Given the description of an element on the screen output the (x, y) to click on. 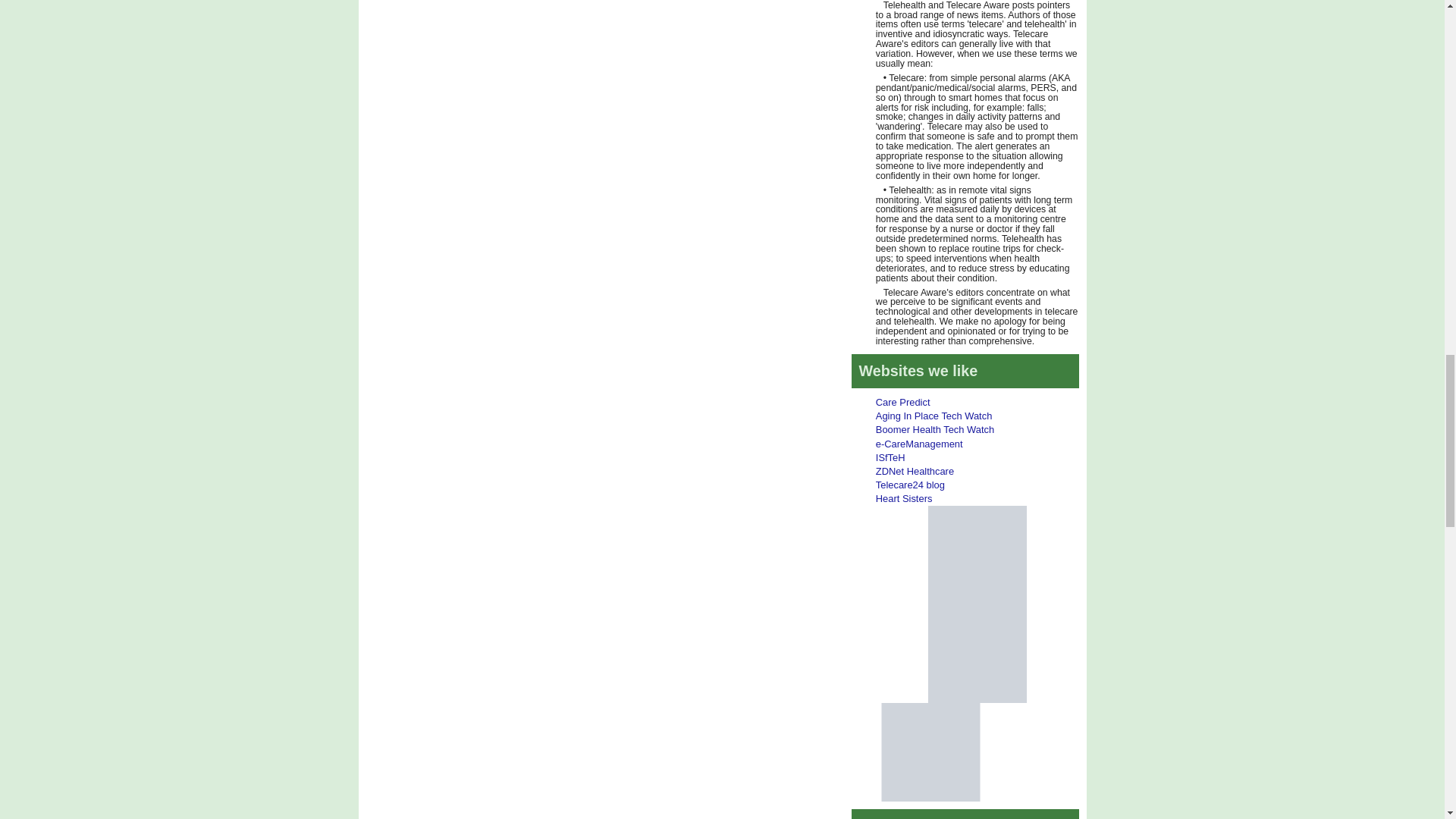
Care Predict (903, 401)
ISfTeH (890, 457)
e-CareManagement (919, 443)
telecare24 blog (910, 484)
Laurie Orlov's Aging In Place Tech Watch (934, 415)
TTA on Twitter (977, 553)
Boomer Health Tech Watch (935, 429)
ZDNet Healthcare (914, 471)
Heart Sisters (904, 498)
